Given the description of an element on the screen output the (x, y) to click on. 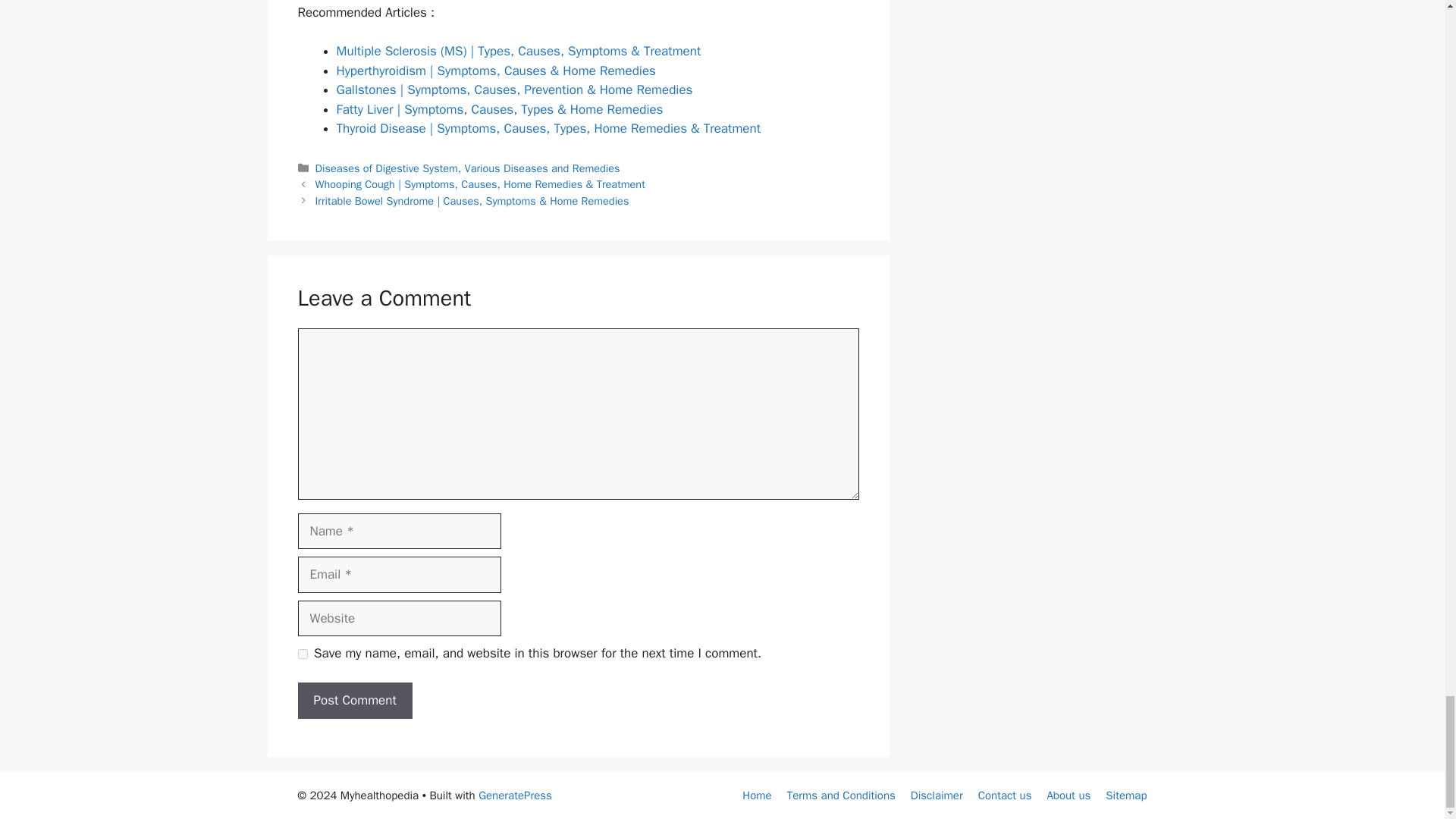
yes (302, 654)
Post Comment (354, 700)
